Given the description of an element on the screen output the (x, y) to click on. 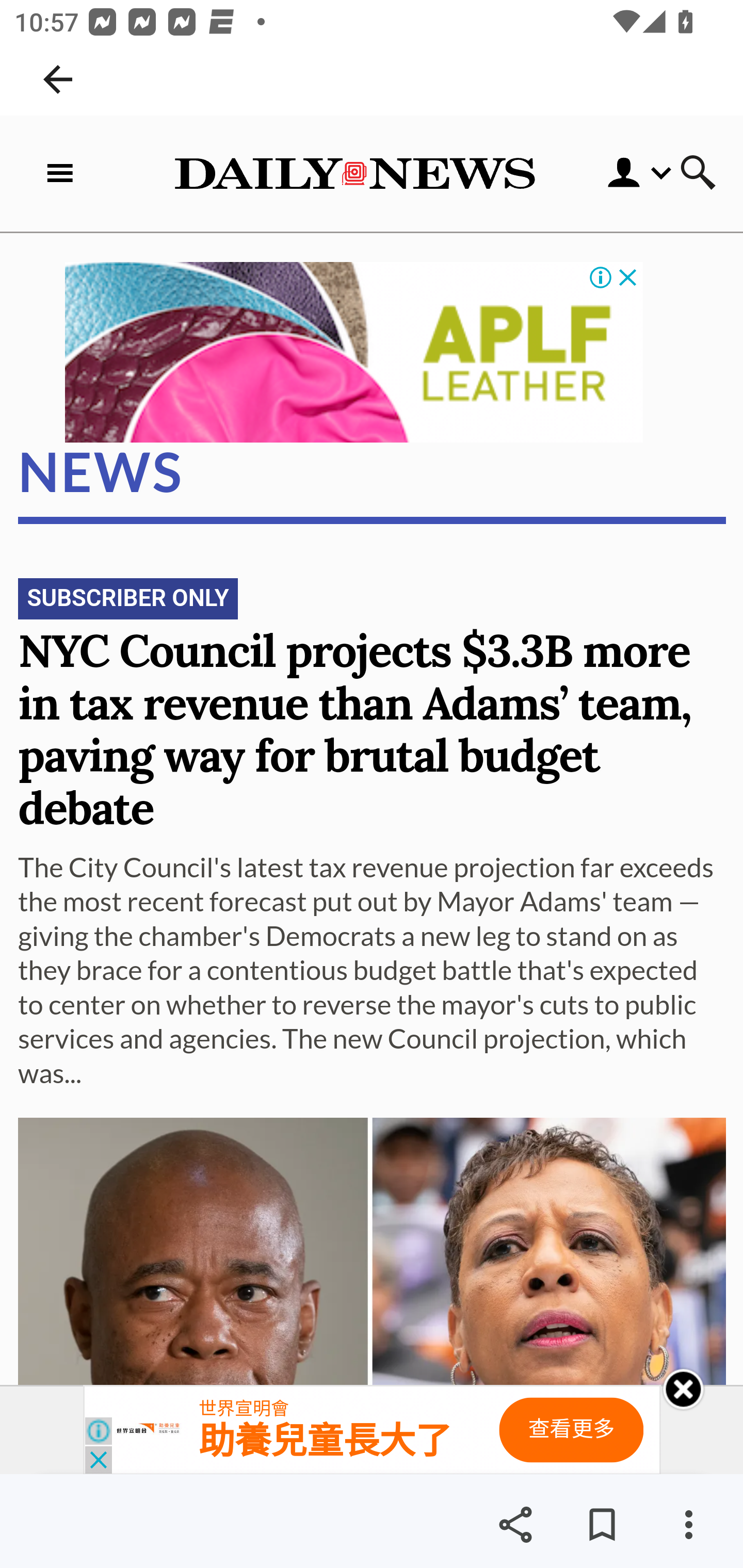
Navigate up (57, 79)
Open menu of all sections (63, 173)
Open menu (625, 173)
Click here or hit enter to open a Search box (697, 173)
New York Daily News (354, 172)
Close (683, 1389)
Share (514, 1524)
Save for later (601, 1524)
More options (688, 1524)
